Given the description of an element on the screen output the (x, y) to click on. 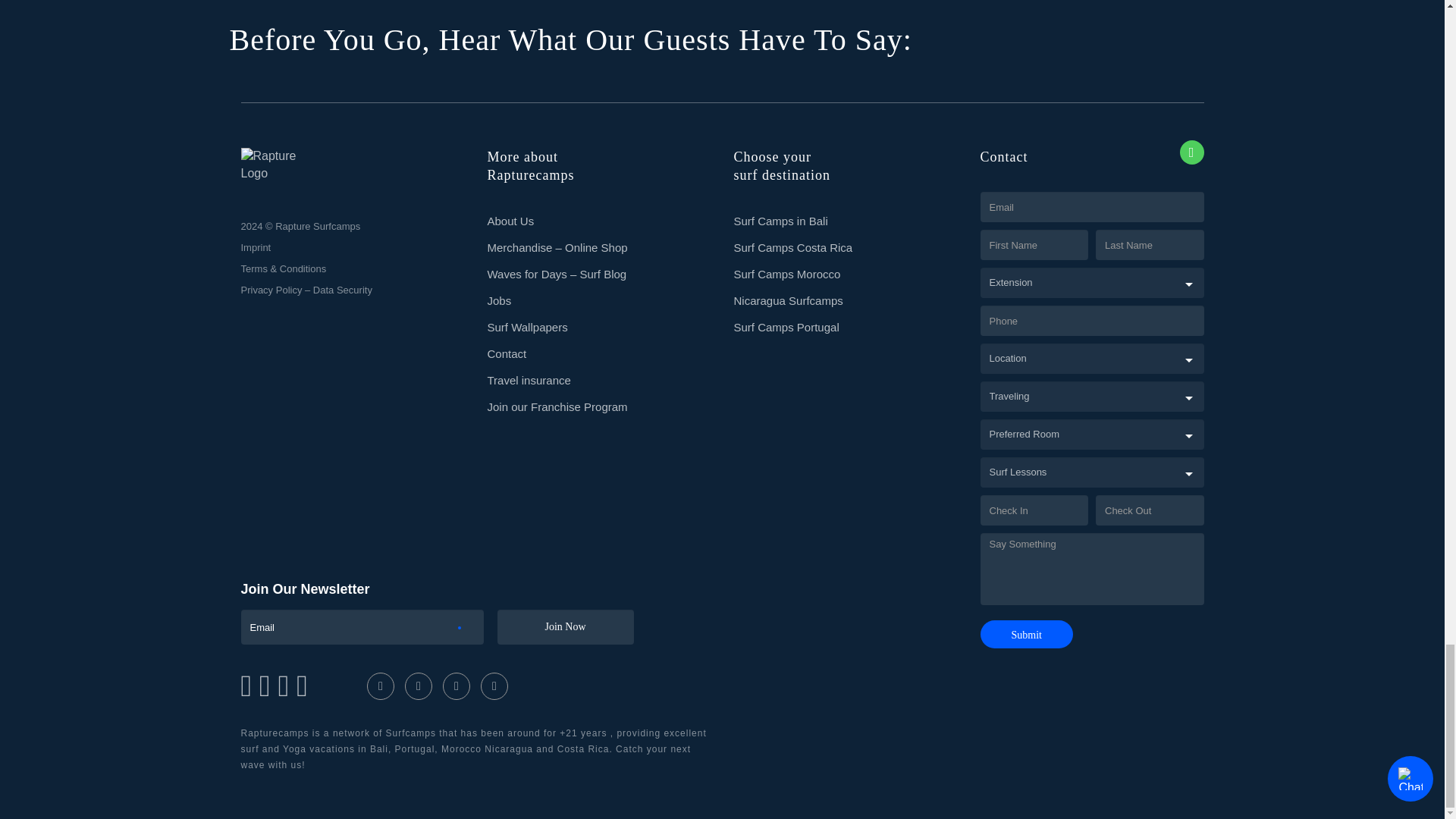
Submit (1025, 633)
About Us (510, 220)
Rapture Surfcamps (276, 165)
Join Now (565, 626)
Imprint (255, 247)
Jobs (498, 300)
